Given the description of an element on the screen output the (x, y) to click on. 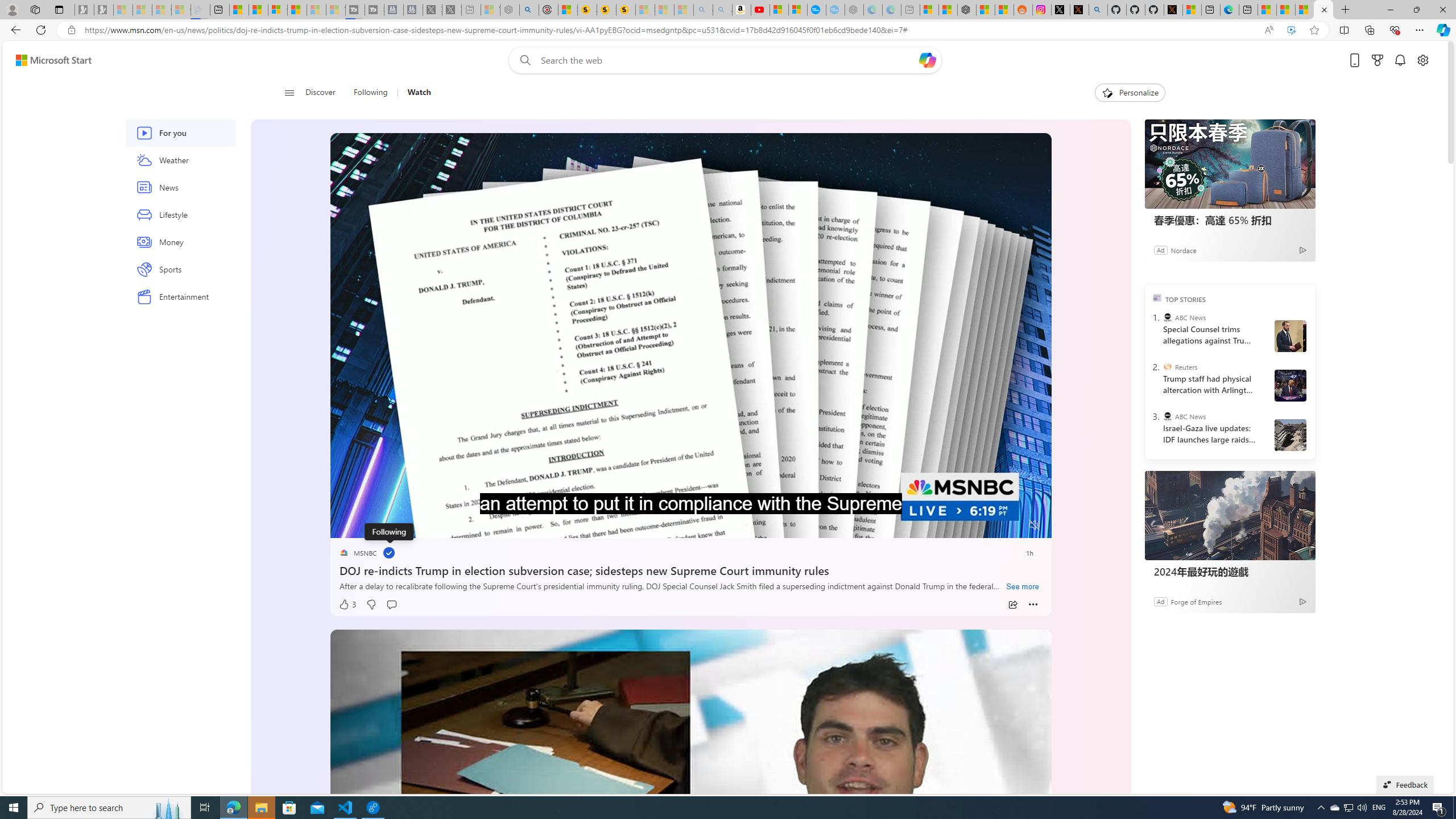
Log in to X / X (1060, 9)
Seek Back (369, 525)
Microsoft account | Microsoft Account Privacy Settings (929, 9)
github - Search (1098, 9)
